Given the description of an element on the screen output the (x, y) to click on. 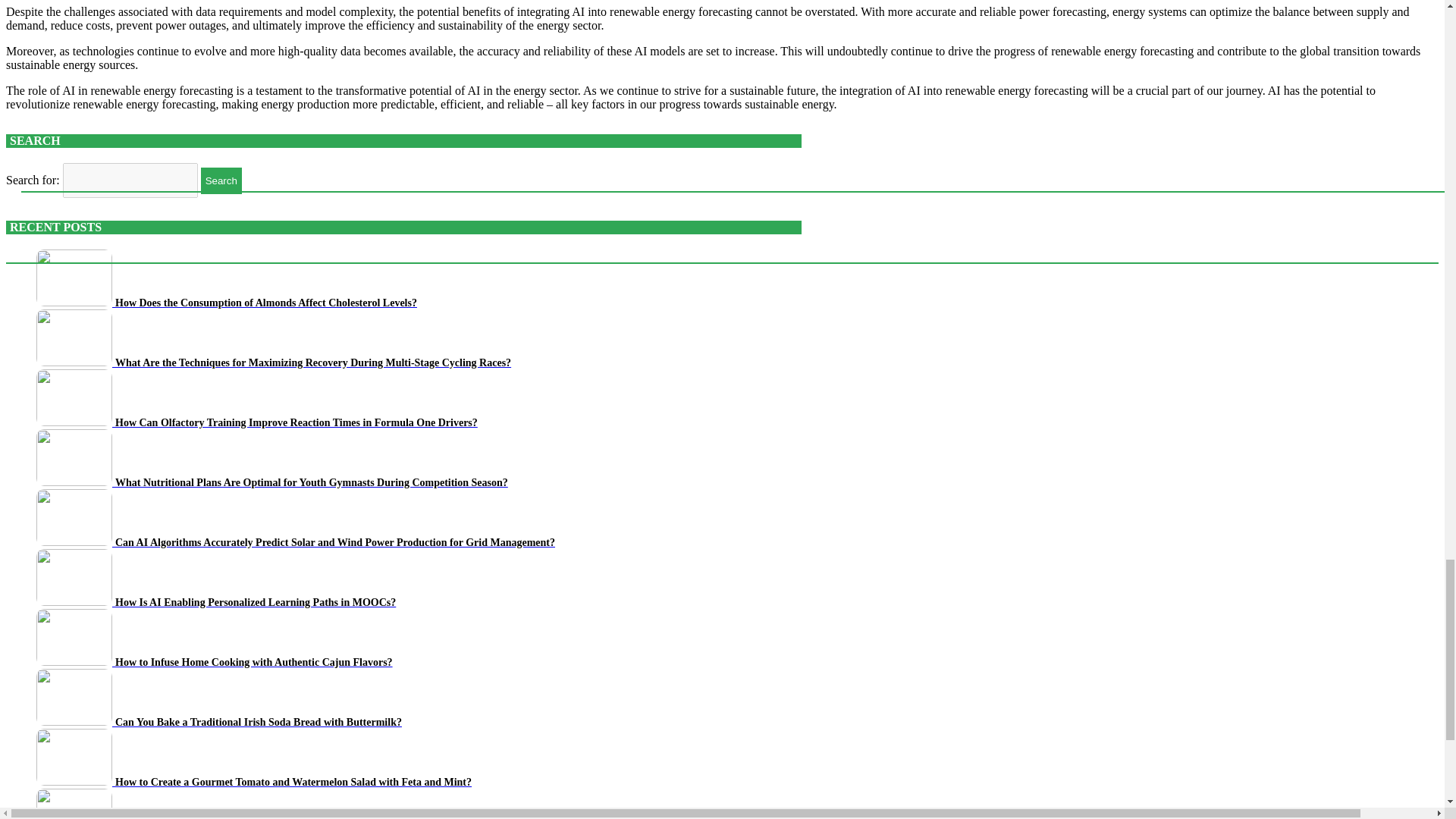
Can You Bake a Traditional Irish Soda Bread with Buttermilk? (218, 721)
Search (220, 180)
How Is AI Enabling Personalized Learning Paths in MOOCs? (216, 601)
How to Infuse Home Cooking with Authentic Cajun Flavors? (214, 661)
Search (220, 180)
